Given the description of an element on the screen output the (x, y) to click on. 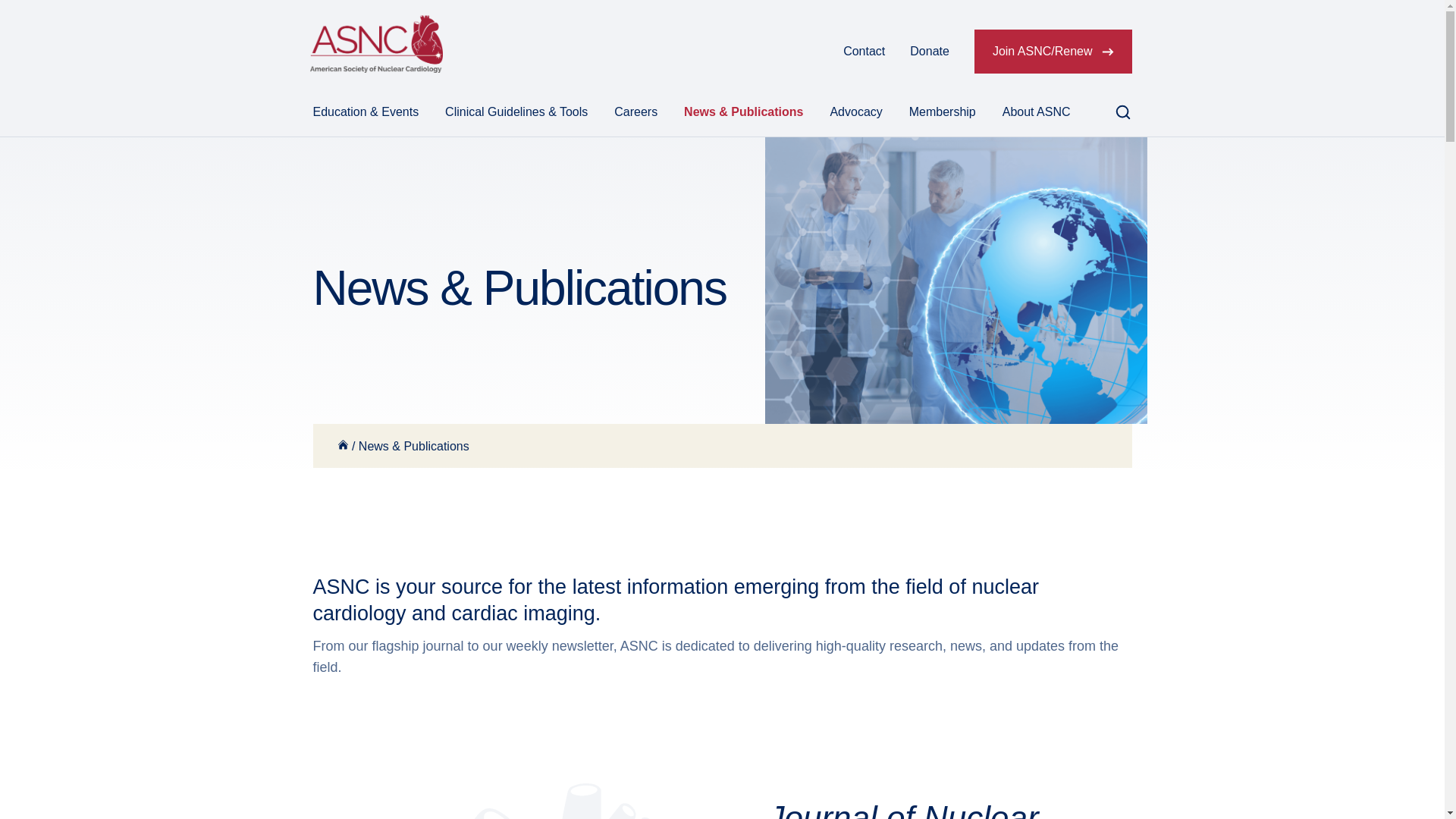
Donate (929, 51)
Log In (801, 51)
Contact (863, 51)
heart (509, 800)
